Given the description of an element on the screen output the (x, y) to click on. 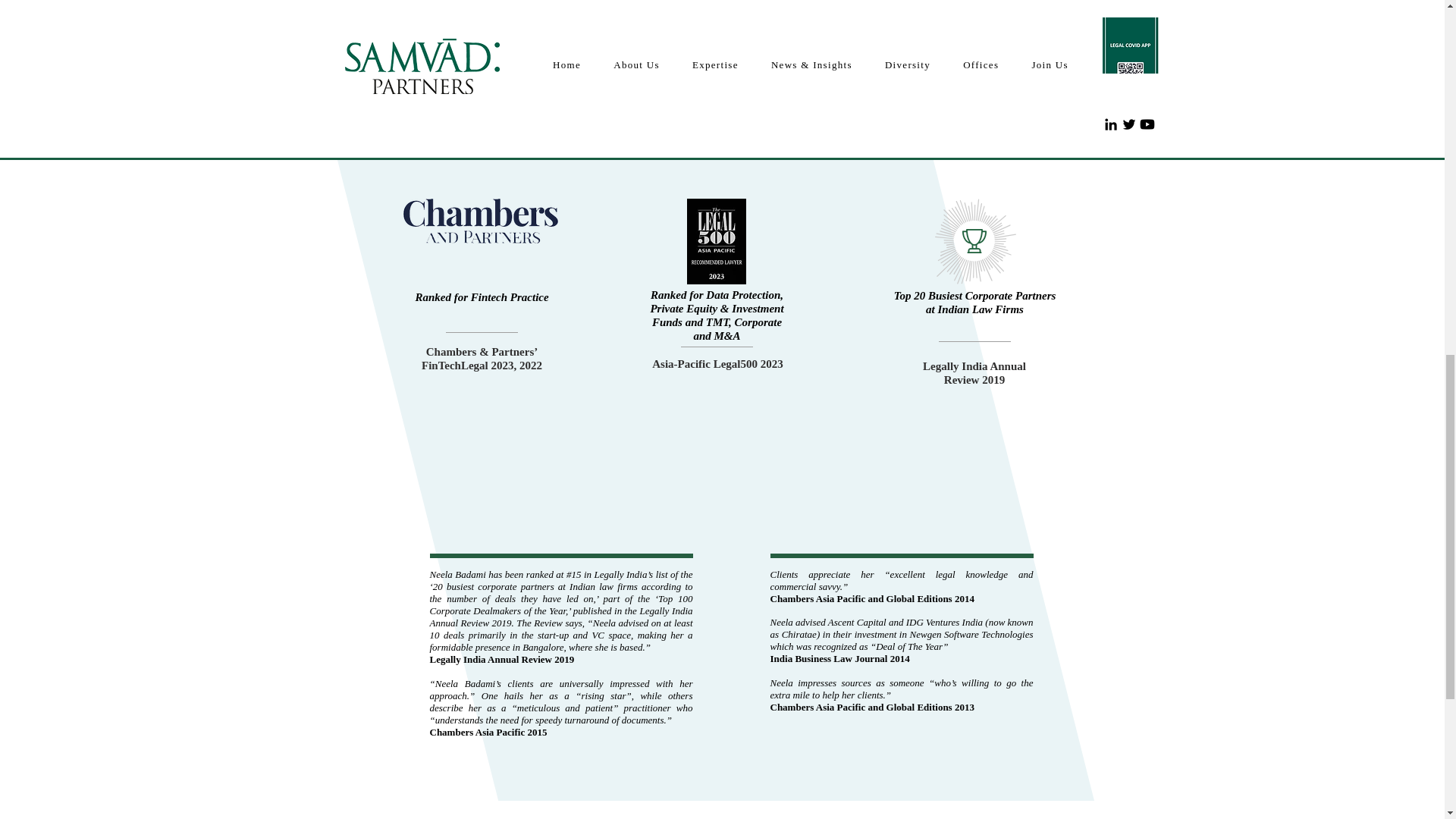
recommended-lawyer-2023.jpg (716, 241)
